Given the description of an element on the screen output the (x, y) to click on. 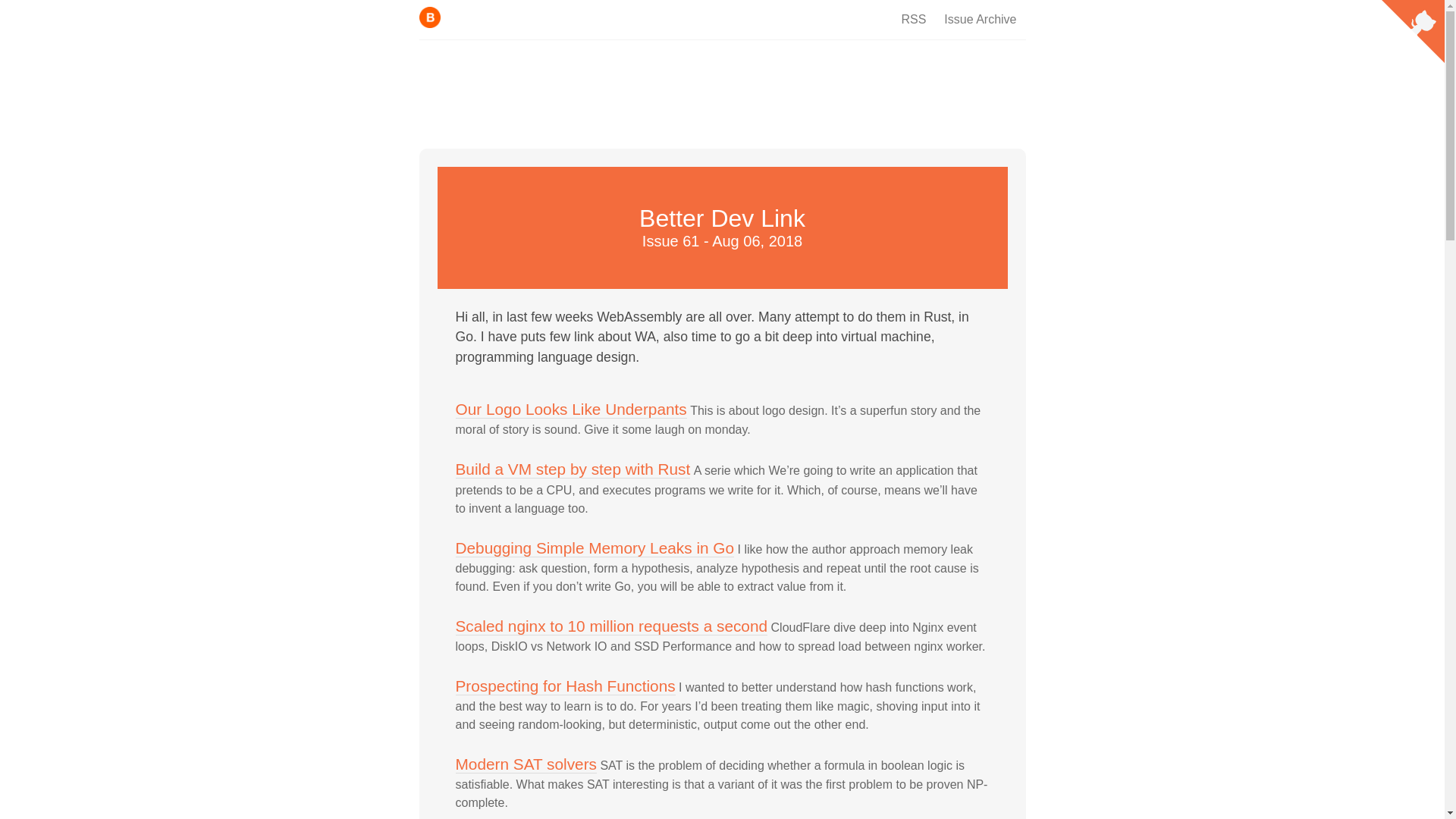
Debugging Simple Memory Leaks in Go (593, 547)
Modern SAT solvers (524, 764)
Prospecting for Hash Functions (564, 686)
RSS (912, 19)
Issue Archive (979, 19)
Scaled nginx to 10 million requests a second (610, 626)
Build a VM step by step with Rust (572, 469)
Our Logo Looks Like Underpants (569, 409)
